Given the description of an element on the screen output the (x, y) to click on. 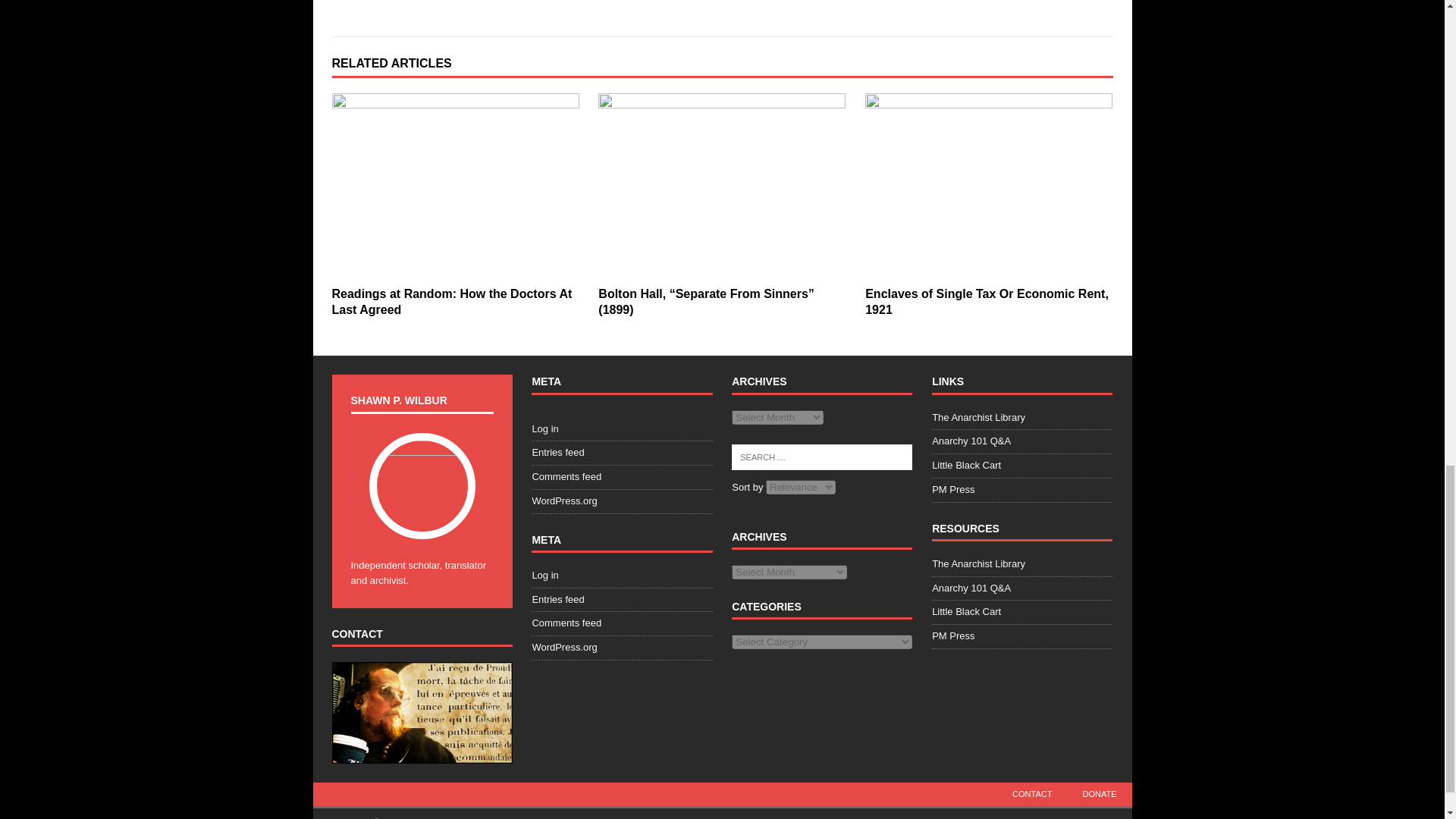
Readings at Random: How the Doctors At Last Agreed (451, 301)
Enclaves of Single Tax Or Economic Rent, 1921 (455, 186)
Enclaves of Single Tax Or Economic Rent, 1921 (988, 186)
Readings at Random: How the Doctors At Last Agreed (986, 301)
Avatar of the author Shawn P. Wilbur (451, 301)
